Given the description of an element on the screen output the (x, y) to click on. 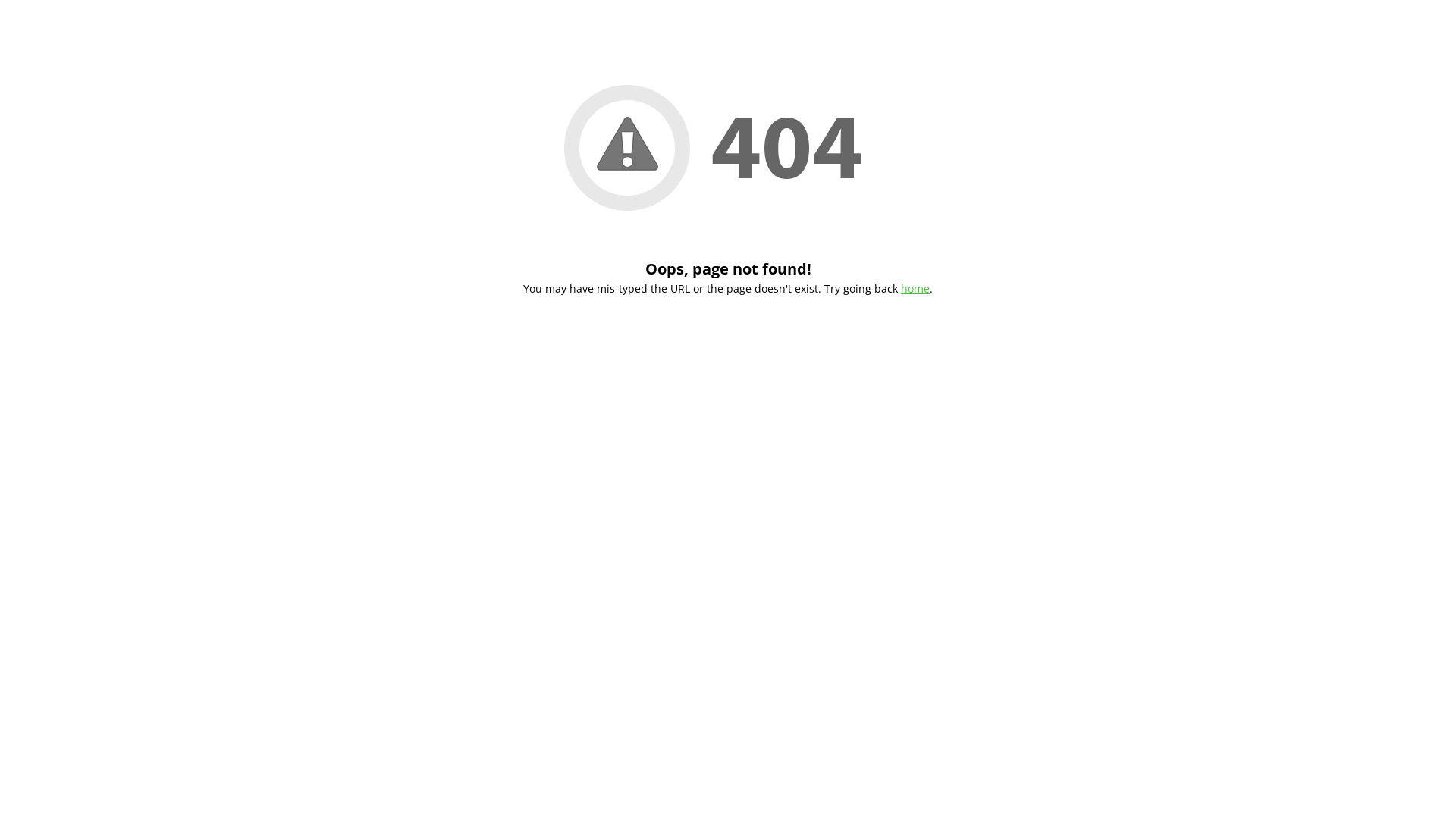
home Element type: text (914, 288)
